Given the description of an element on the screen output the (x, y) to click on. 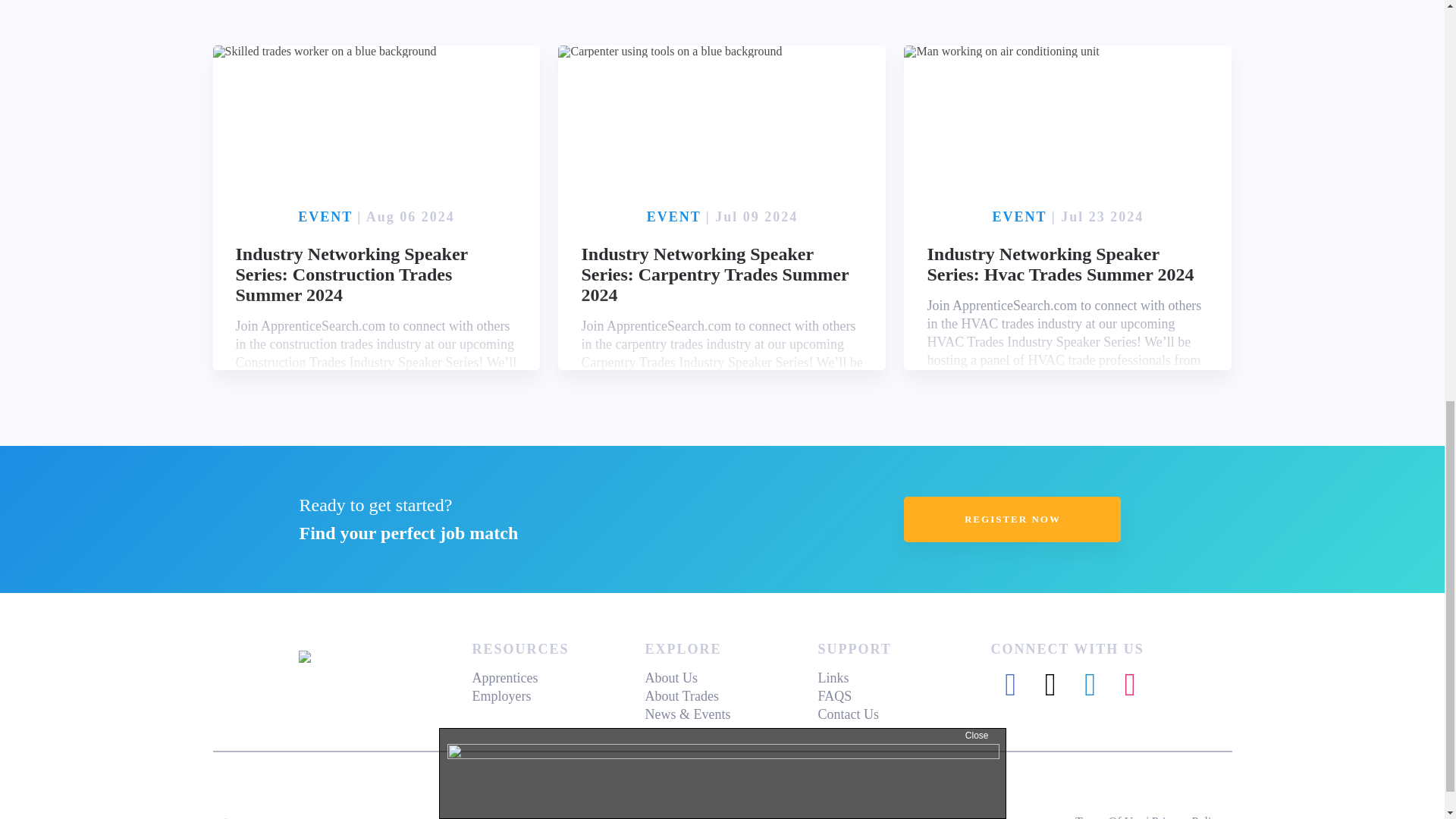
About Us (671, 677)
About Trades (682, 695)
REGISTER NOW (1012, 519)
Apprentices (504, 677)
Employers (501, 695)
